Given the description of an element on the screen output the (x, y) to click on. 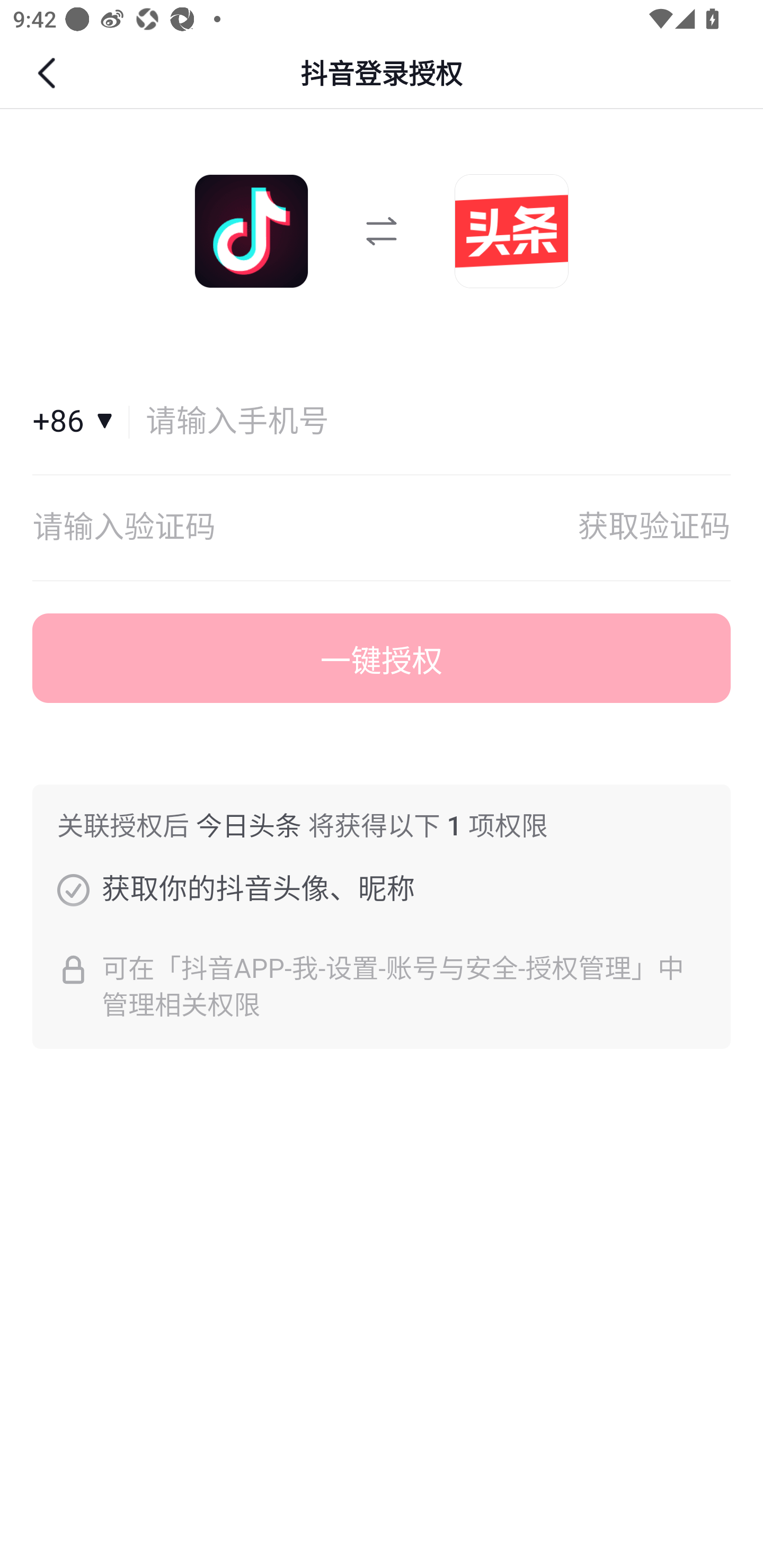
返回 (49, 72)
国家和地区+86 (81, 421)
获取验证码 (653, 527)
一键授权 (381, 658)
获取你的抖音头像、昵称 (72, 889)
